Given the description of an element on the screen output the (x, y) to click on. 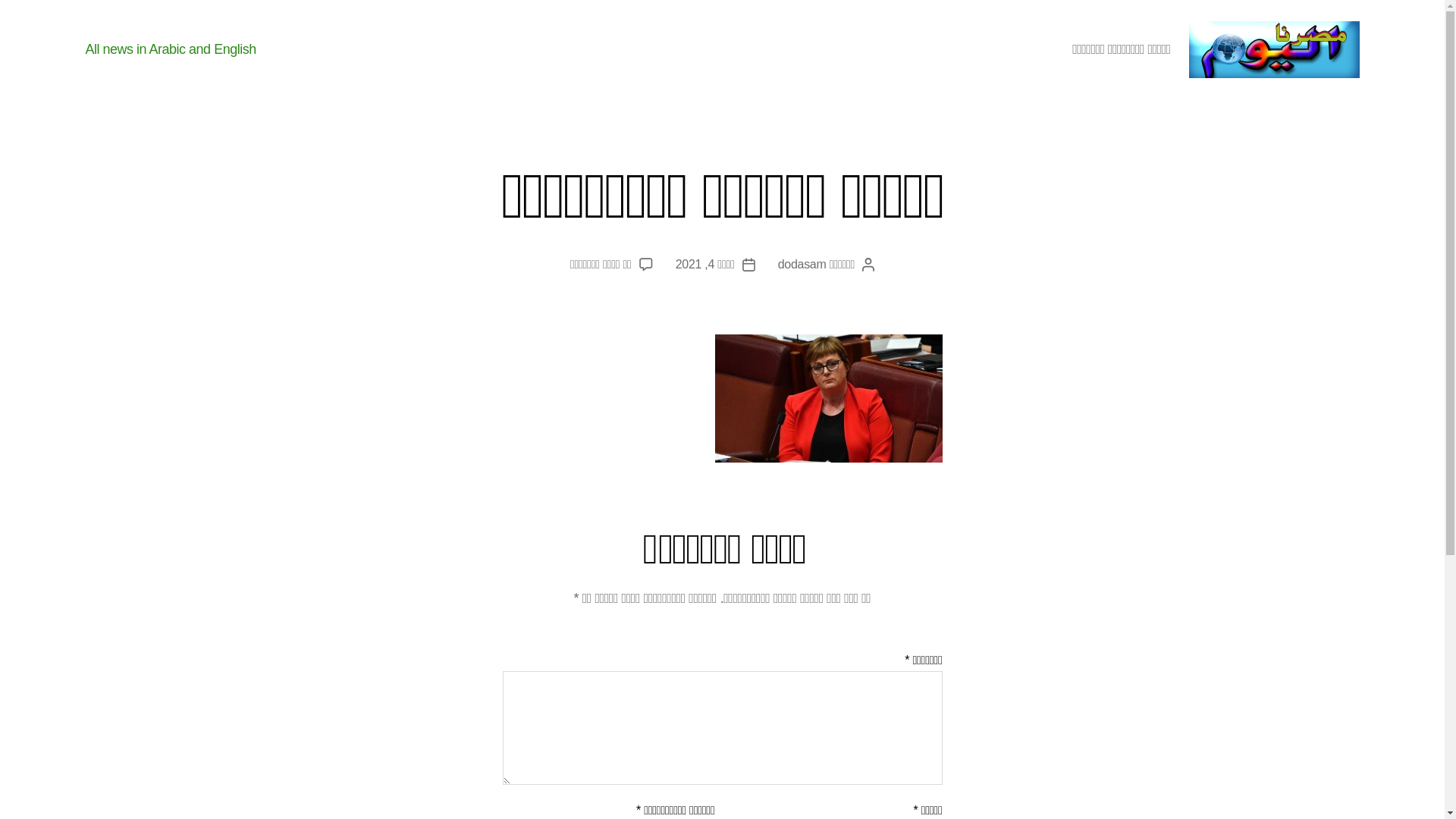
All news in Arabic and English Element type: text (169, 49)
dodasam Element type: text (802, 263)
